Given the description of an element on the screen output the (x, y) to click on. 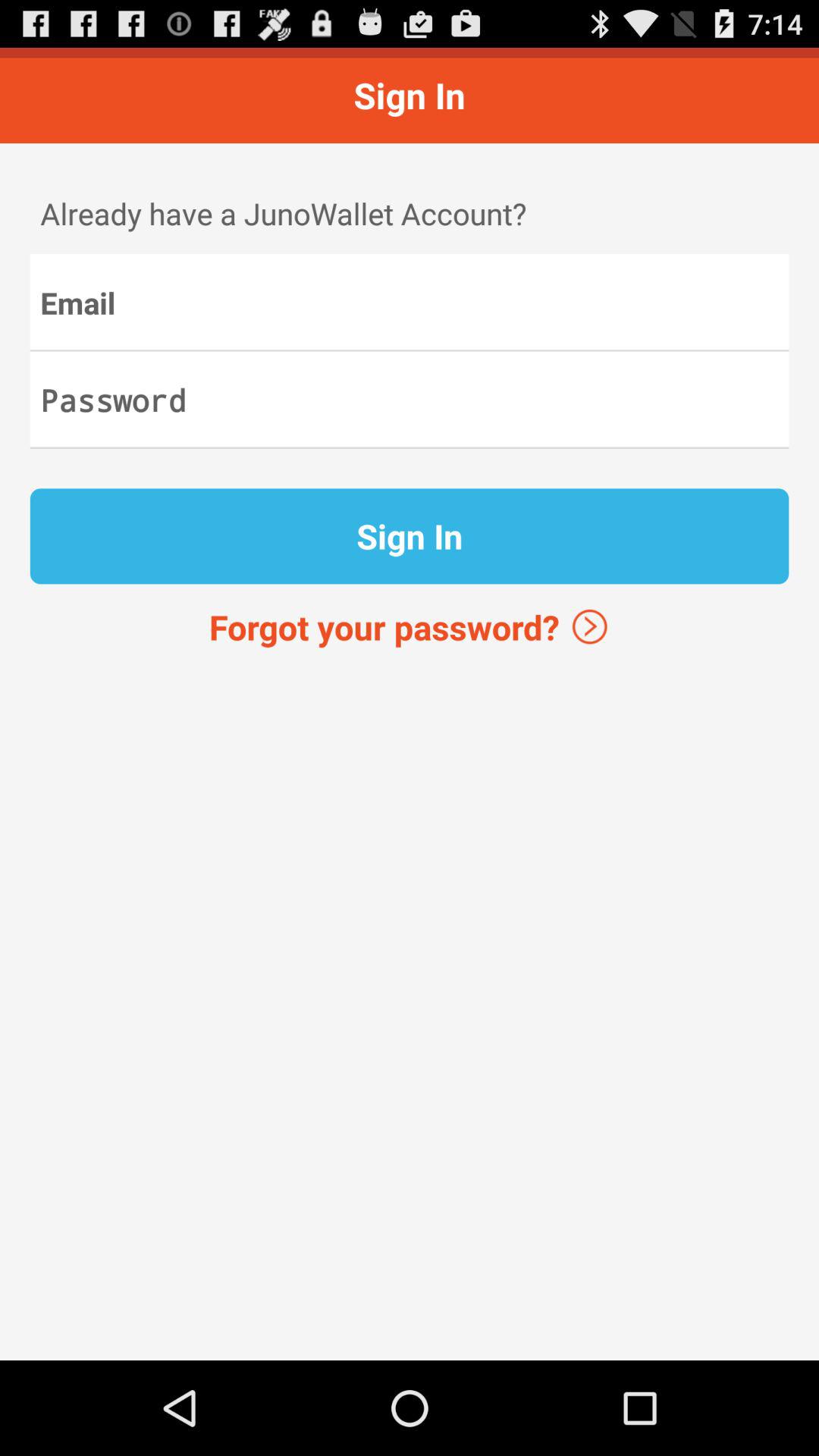
open forgot your password? app (409, 627)
